Given the description of an element on the screen output the (x, y) to click on. 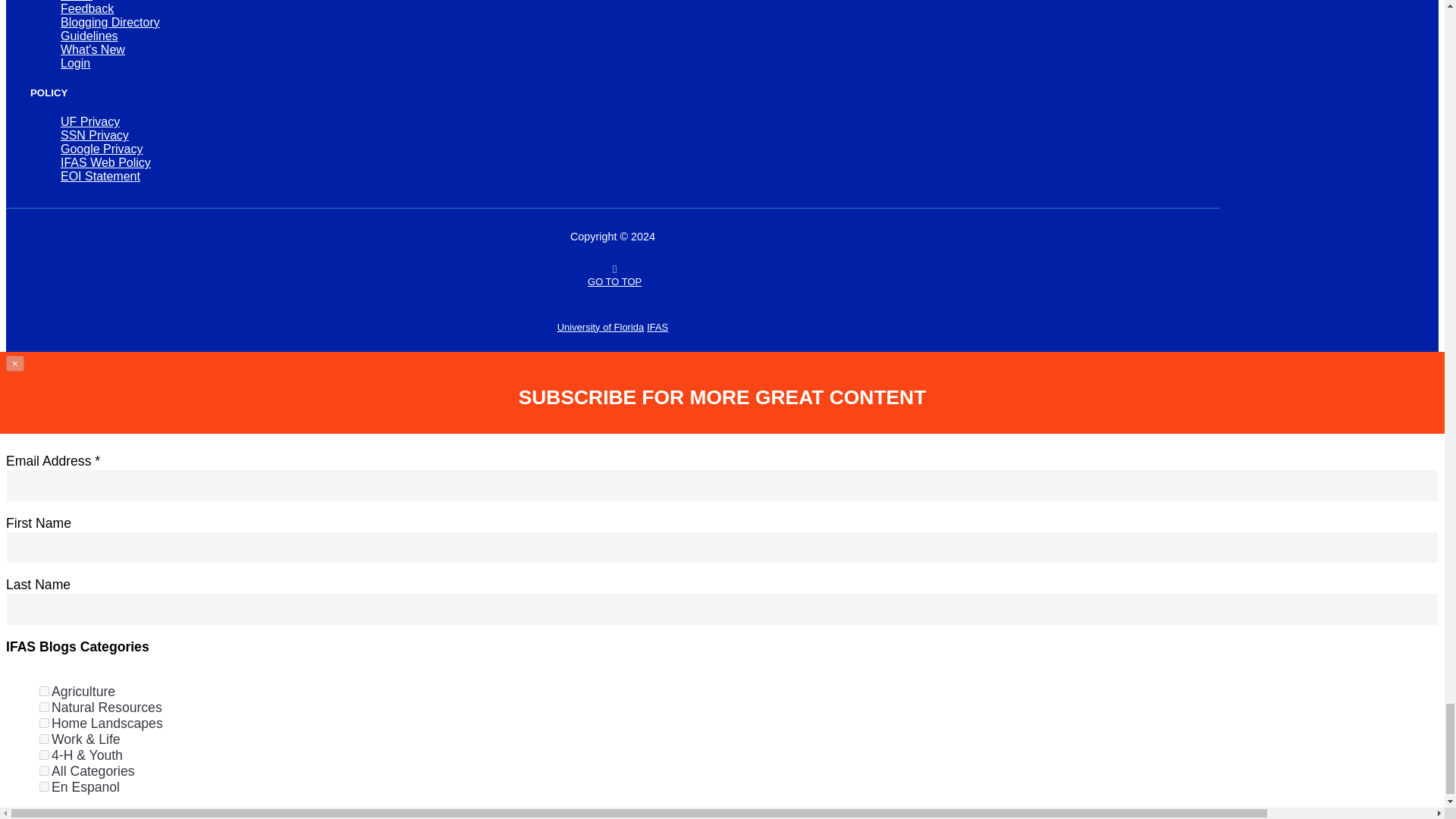
2 (44, 706)
8 (44, 738)
16 (44, 755)
64 (44, 786)
1 (44, 691)
4 (44, 723)
32 (44, 770)
